Given the description of an element on the screen output the (x, y) to click on. 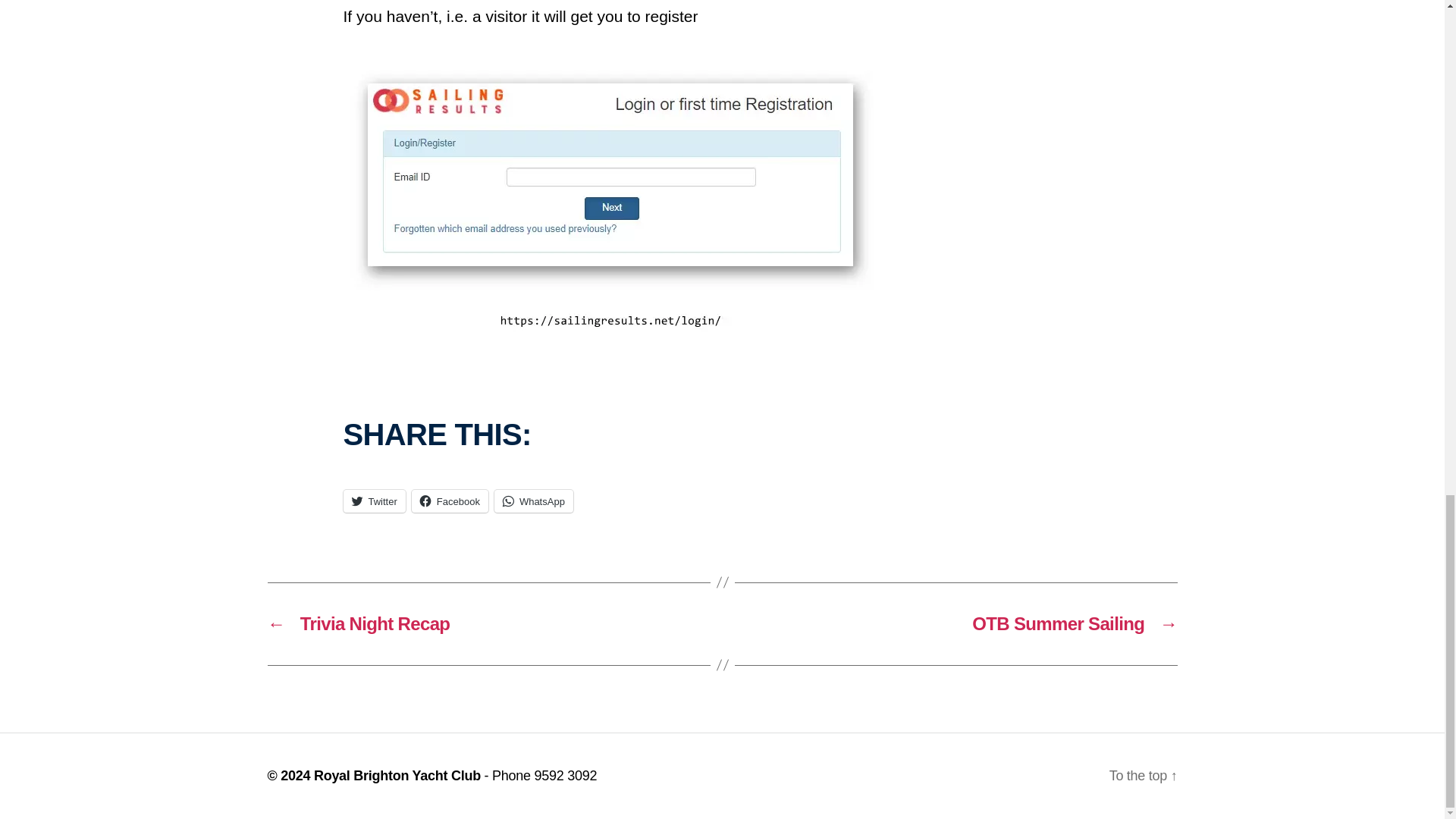
Click to share on Twitter (373, 500)
Click to share on WhatsApp (534, 500)
Click to share on Facebook (449, 500)
